Given the description of an element on the screen output the (x, y) to click on. 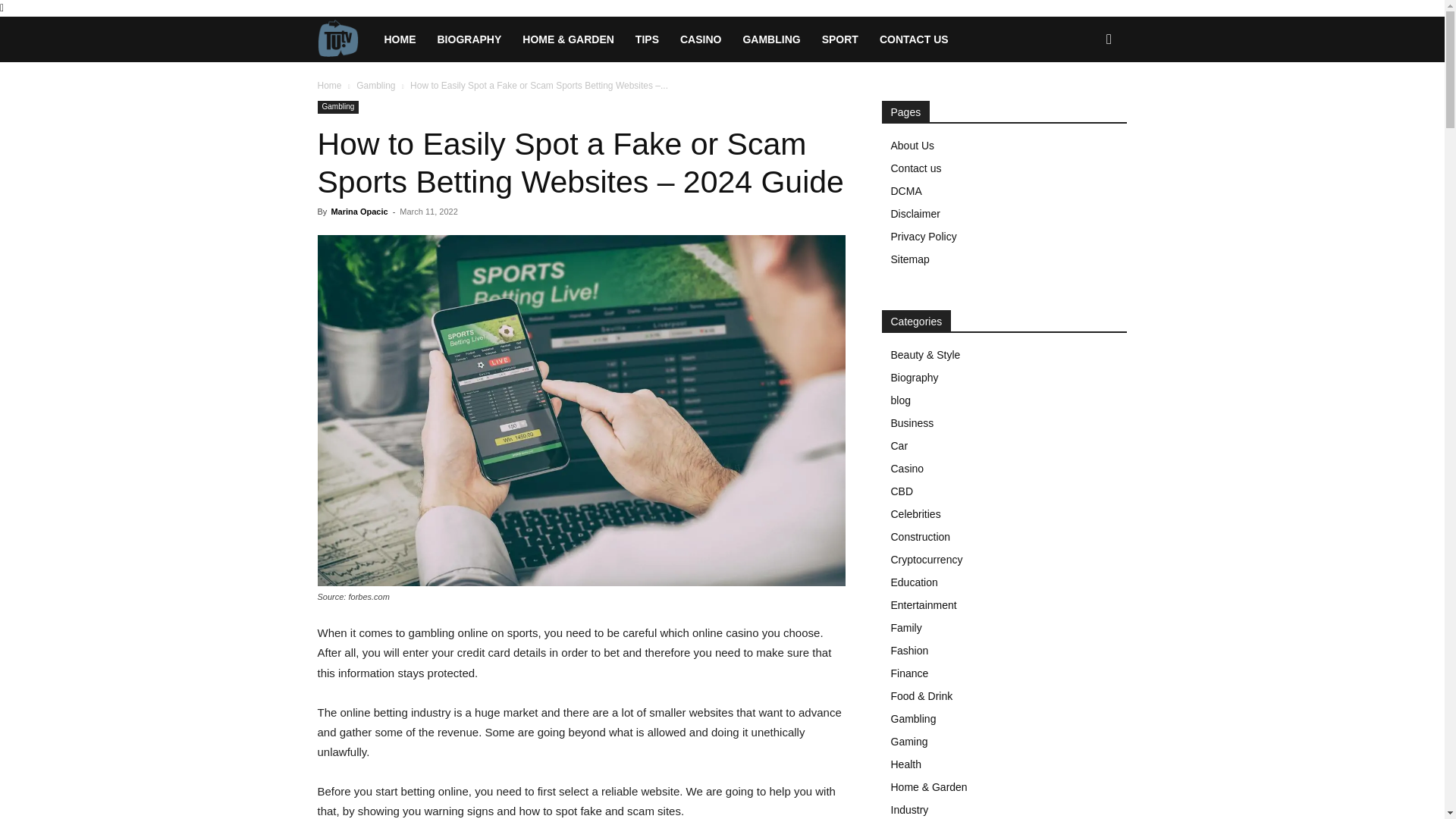
Tu.tv (344, 39)
TIPS (646, 39)
CONTACT US (914, 39)
HOME (399, 39)
Gambling (375, 85)
Gambling (337, 106)
Home (328, 85)
BIOGRAPHY (469, 39)
Marina Opacic (358, 211)
SPORT (839, 39)
GAMBLING (771, 39)
View all posts in Gambling (375, 85)
CASINO (700, 39)
Search (1085, 104)
